Given the description of an element on the screen output the (x, y) to click on. 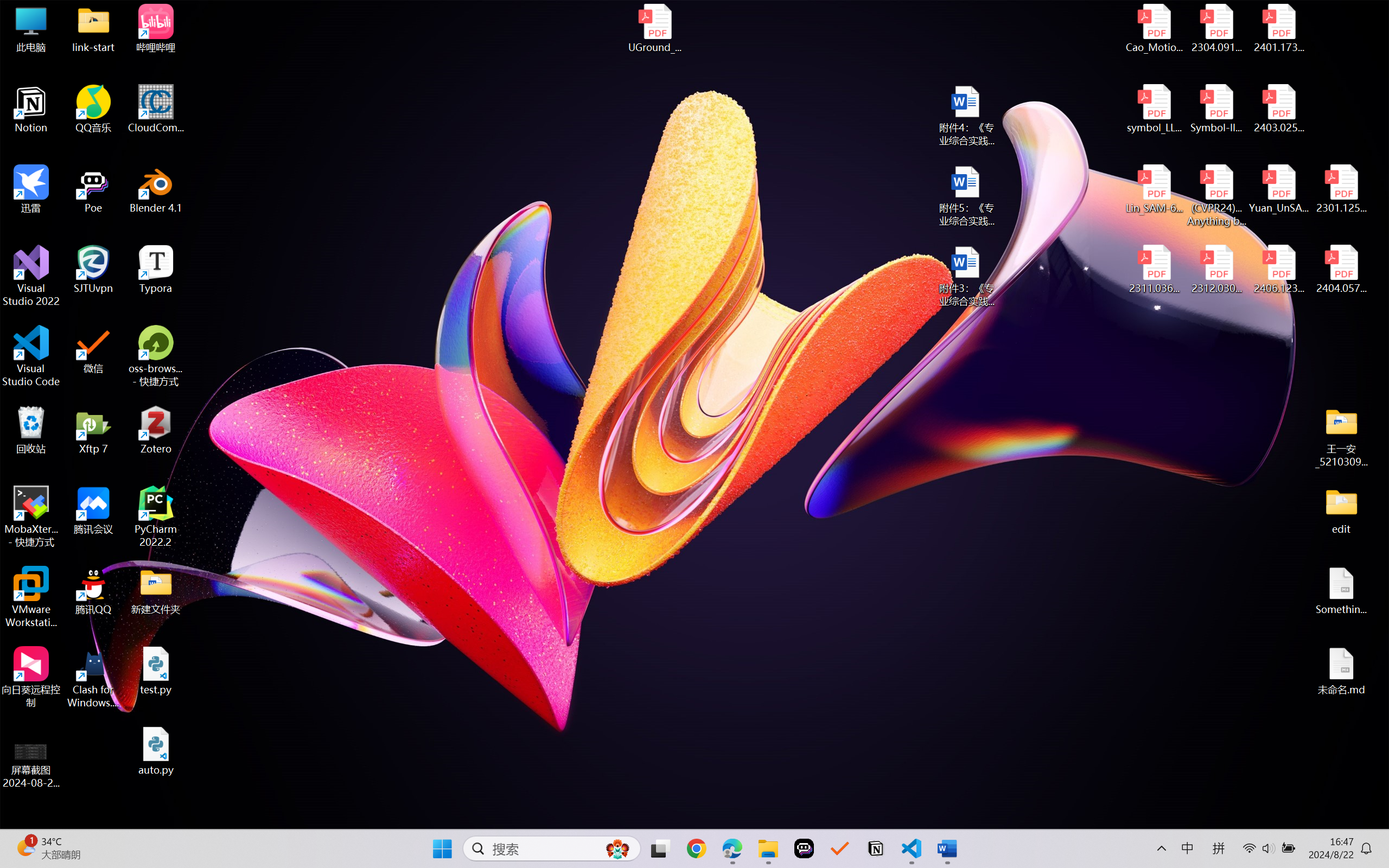
(CVPR24)Matching Anything by Segmenting Anything.pdf (1216, 195)
Typora (156, 269)
edit (1340, 510)
auto.py (156, 751)
symbol_LLM.pdf (1154, 109)
2403.02502v1.pdf (1278, 109)
Blender 4.1 (156, 189)
2406.12373v2.pdf (1278, 269)
Xftp 7 (93, 430)
